Given the description of an element on the screen output the (x, y) to click on. 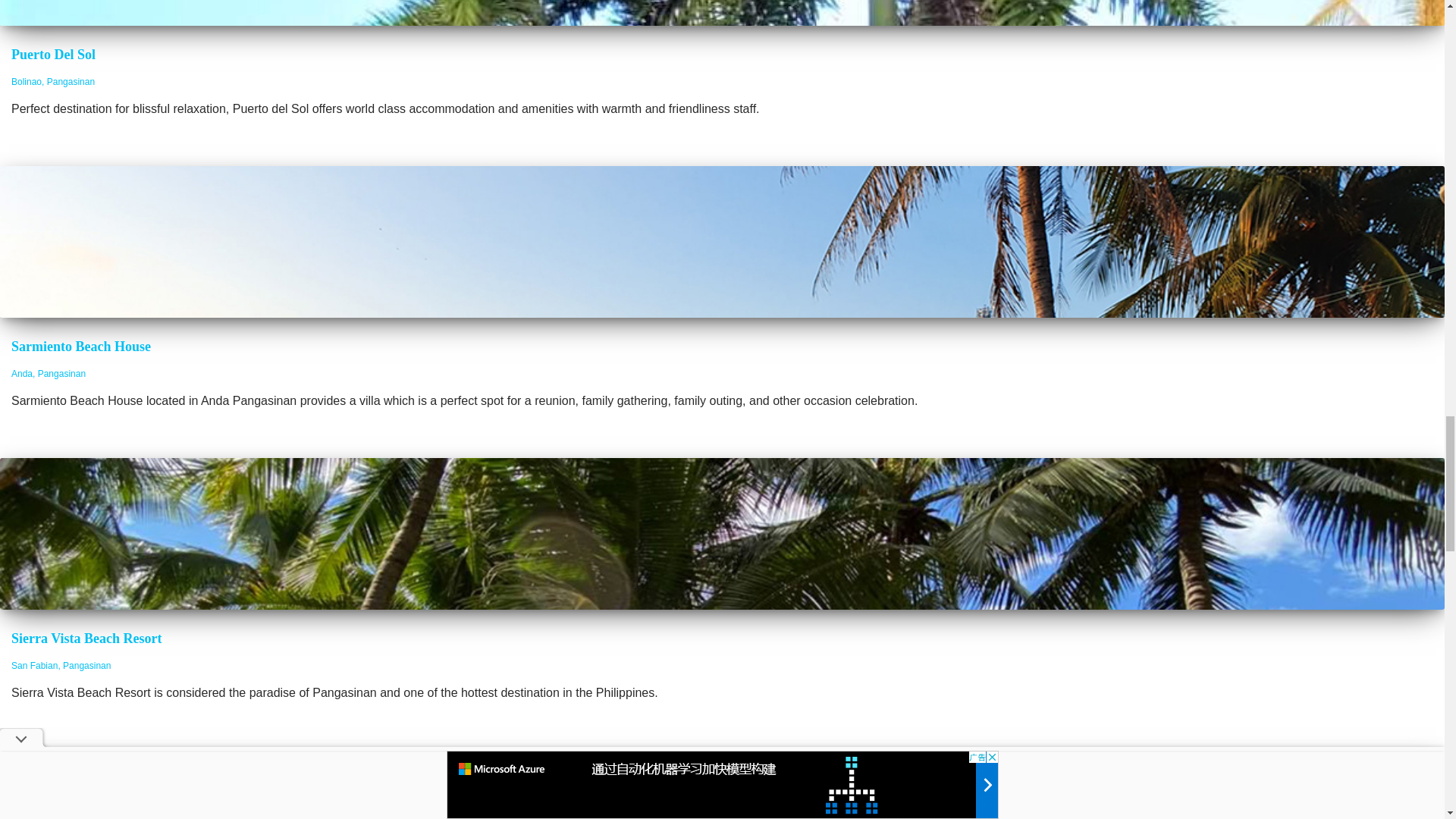
Puerto Del Sol (53, 54)
Sarmiento Beach House (81, 346)
Sierra Vista Beach Resort (86, 638)
Bolinao, Pangasinan (52, 81)
San Fabian, Pangasinan (60, 665)
Anda, Pangasinan (48, 373)
